Given the description of an element on the screen output the (x, y) to click on. 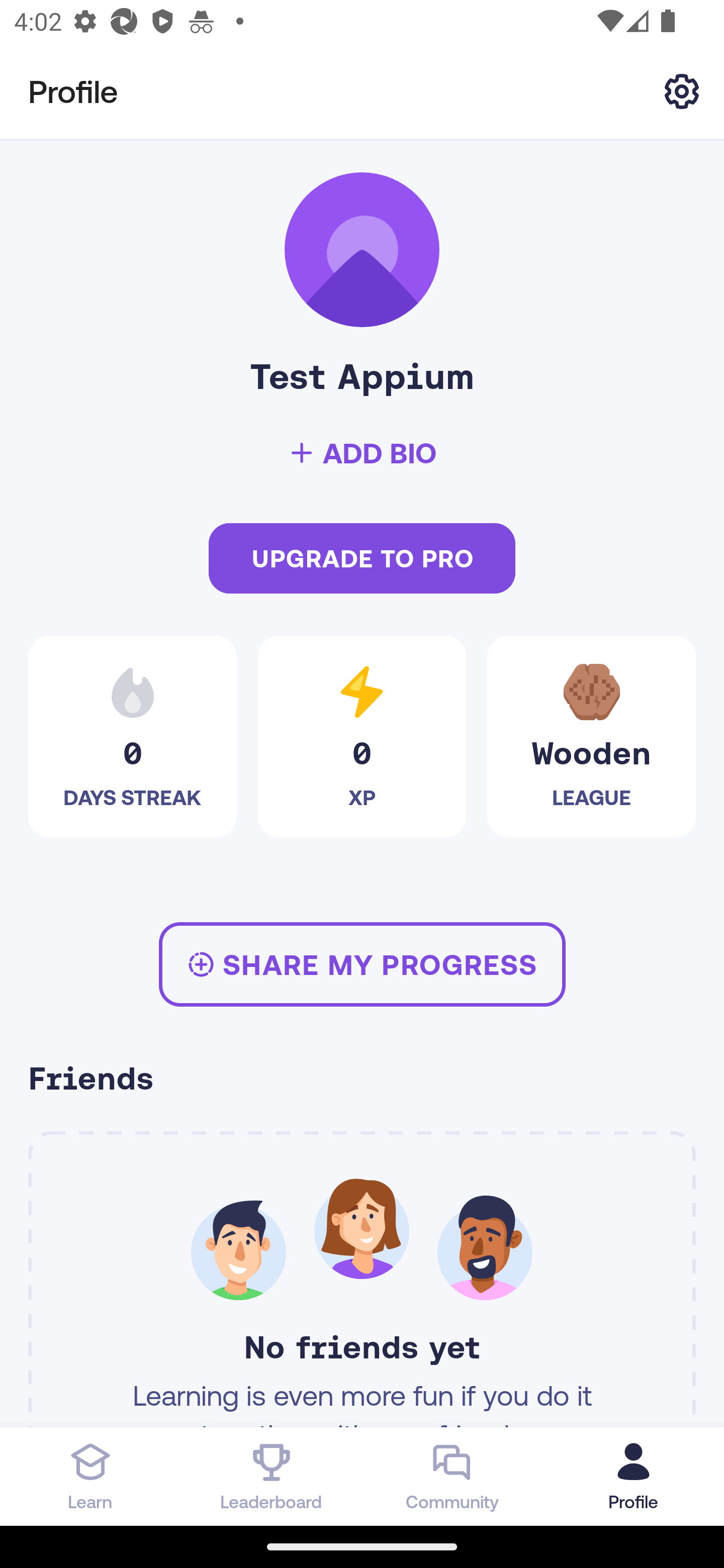
Settings (681, 90)
ADD BIO (361, 452)
UPGRADE TO PRO (361, 558)
SHARE MY PROGRESS (361, 963)
Friends (362, 1081)
Learn (90, 1475)
Leaderboard (271, 1475)
Community (452, 1475)
